Given the description of an element on the screen output the (x, y) to click on. 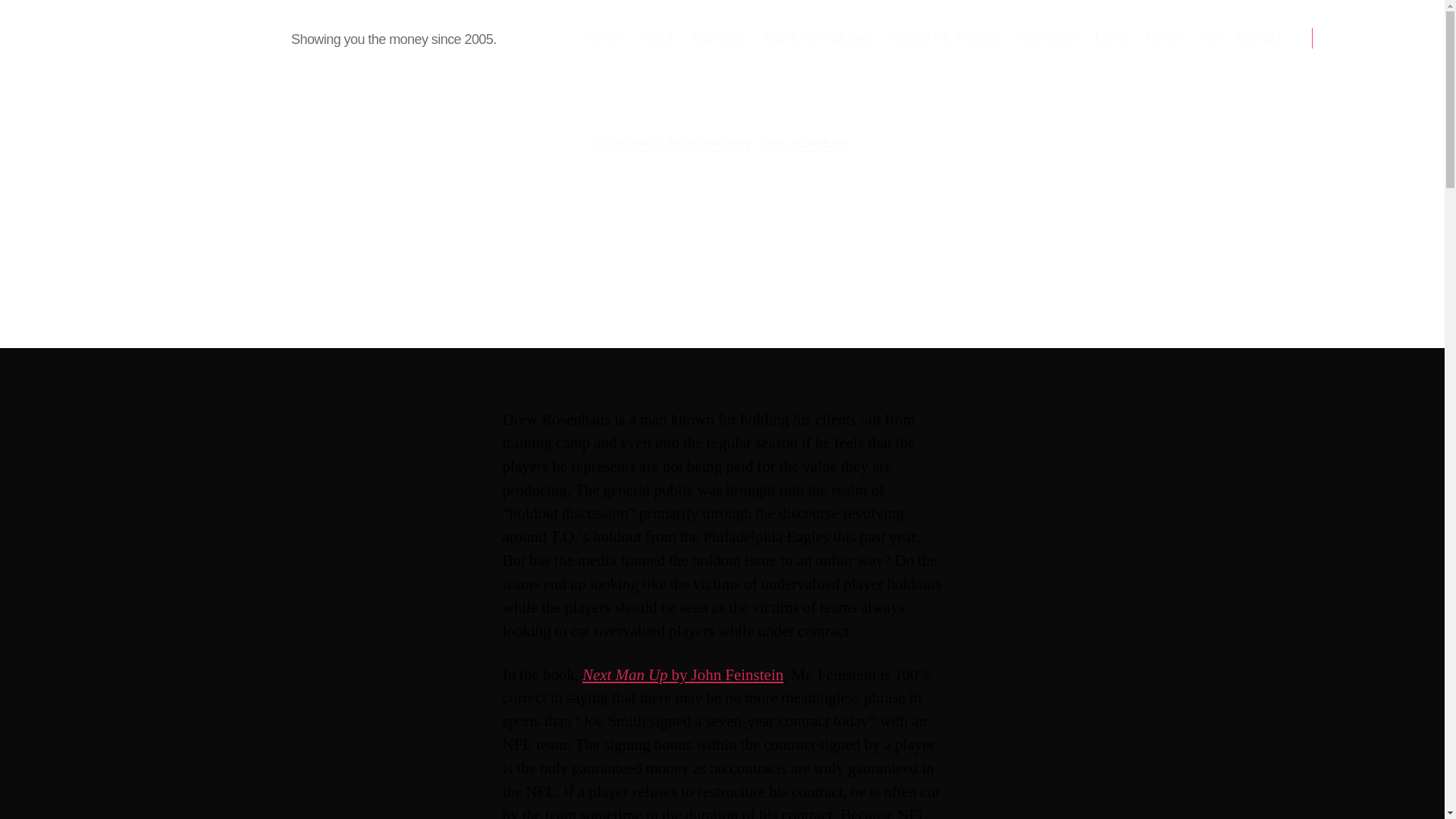
About (655, 37)
Home (602, 37)
June 17, 2006 (745, 277)
Search (1350, 37)
NFL PLAYERS (806, 143)
Interviews (1048, 37)
School NIL Policies (944, 37)
Contact (1258, 37)
Links (1110, 37)
Twitter (1163, 37)
FB (1209, 37)
Darren Heitner (626, 277)
Next Man Up by John Feinstein (860, 277)
Agencies (682, 674)
